Given the description of an element on the screen output the (x, y) to click on. 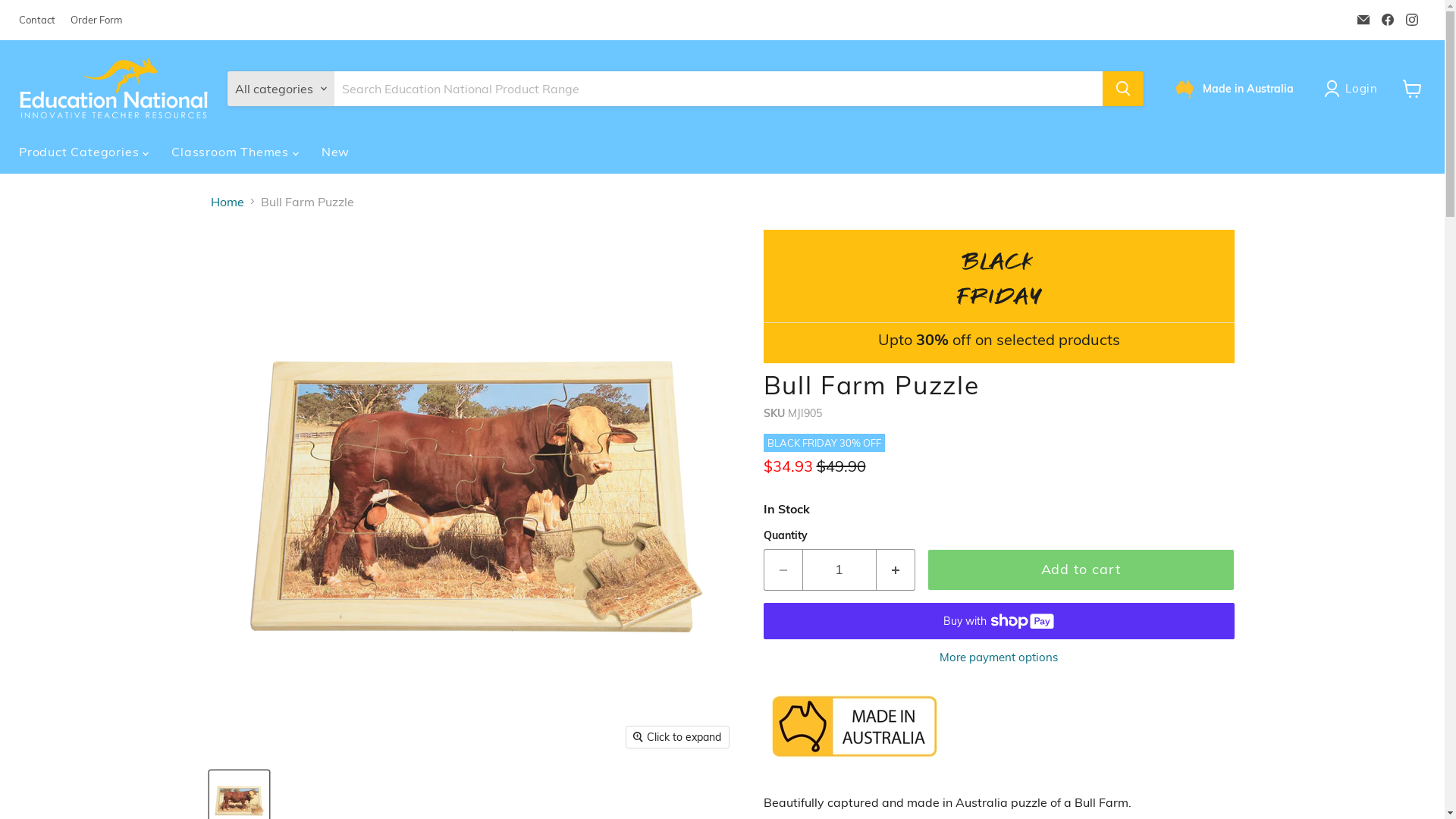
Add to cart Element type: text (1079, 569)
View cart Element type: text (1412, 88)
Email Education National Element type: text (1363, 19)
Order Form Element type: text (96, 19)
Home Element type: text (227, 201)
New Element type: text (335, 151)
Contact Element type: text (36, 19)
Find us on Facebook Element type: text (1387, 19)
More payment options Element type: text (997, 656)
Find us on Instagram Element type: text (1411, 19)
Login Element type: text (1353, 88)
Click to expand Element type: text (677, 736)
